Given the description of an element on the screen output the (x, y) to click on. 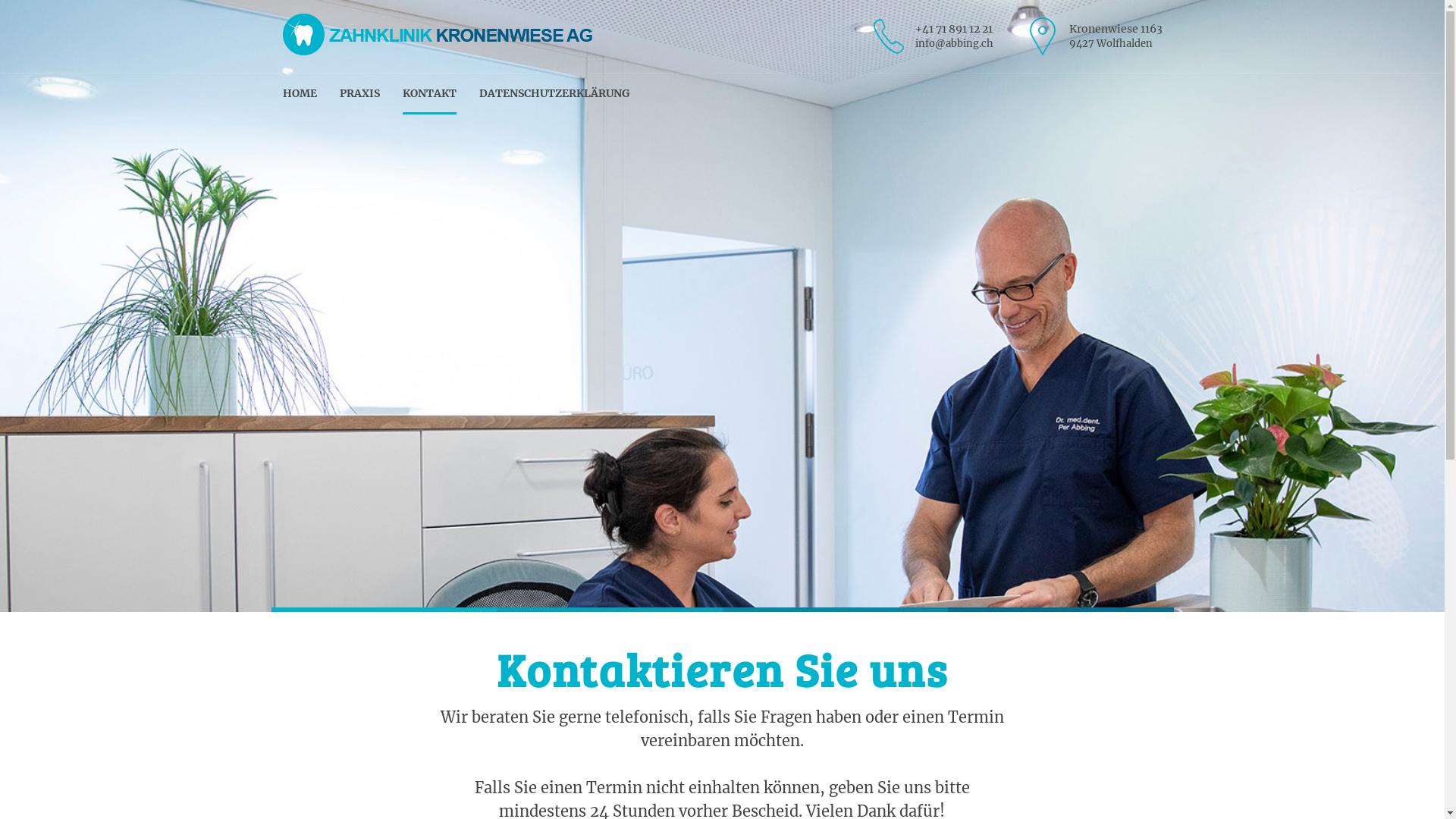
KONTAKT Element type: text (428, 93)
HOME Element type: text (299, 93)
Kronenwiese 1163
9427 Wolfhalden Element type: text (1090, 36)
PRAXIS Element type: text (359, 93)
+41 71 891 12 21
info@abbing.ch Element type: text (929, 36)
